Given the description of an element on the screen output the (x, y) to click on. 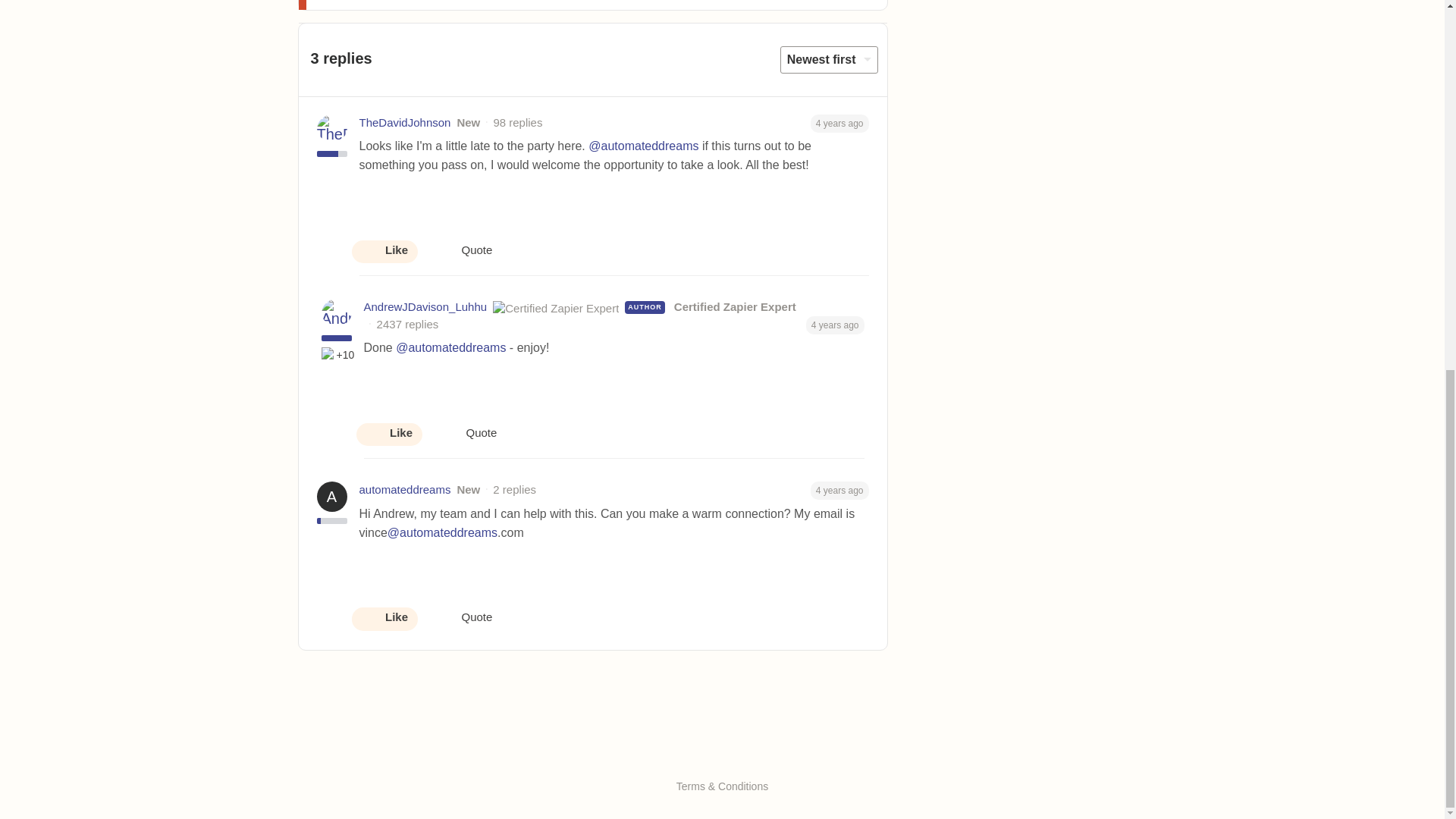
Visit Gainsight.com (722, 754)
TheDavidJohnson (405, 122)
Helpful (328, 354)
4 years ago (839, 122)
automateddreams (405, 489)
TheDavidJohnson (405, 122)
